Given the description of an element on the screen output the (x, y) to click on. 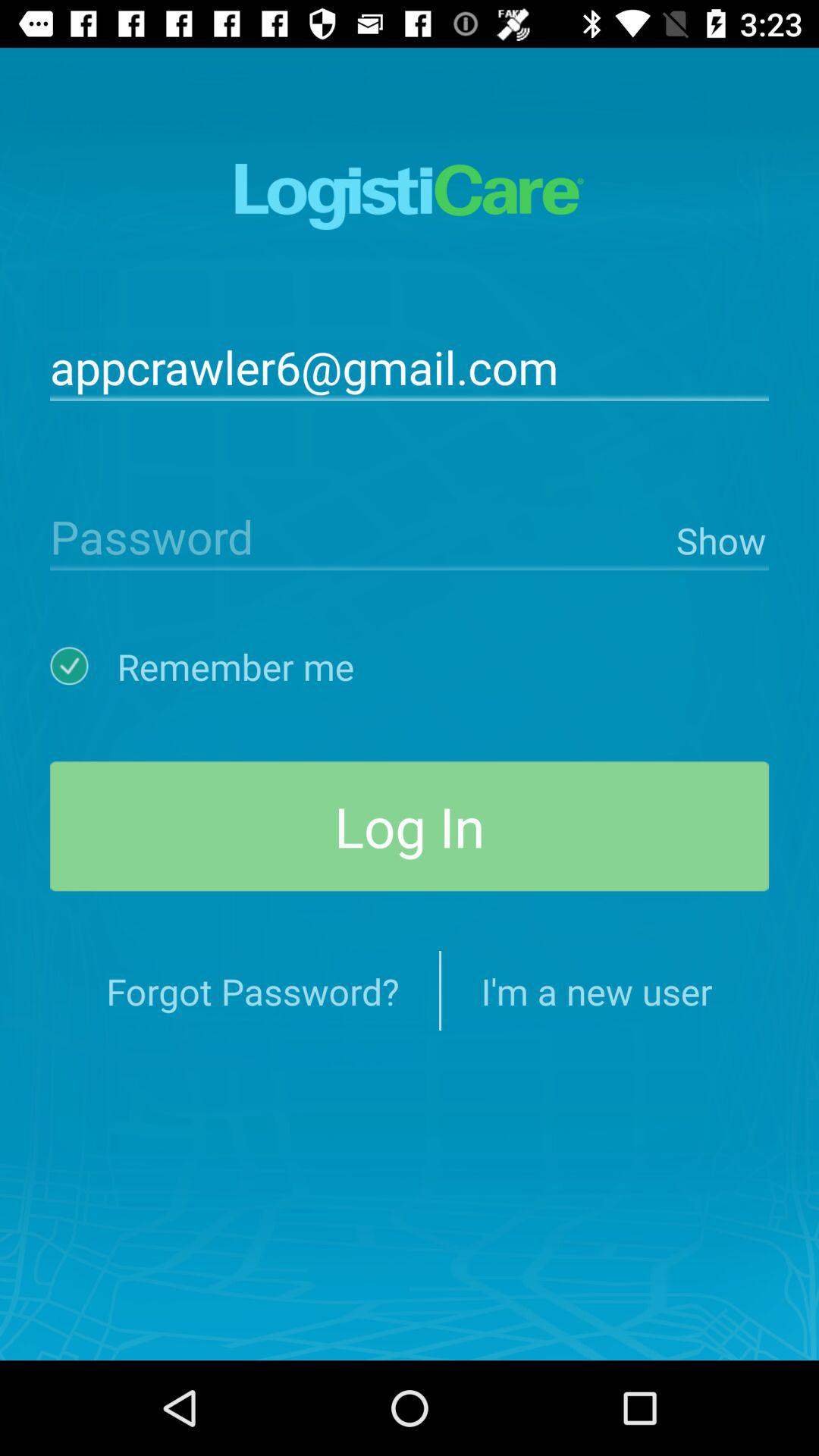
scroll until appcrawler6@gmail.com icon (409, 365)
